Given the description of an element on the screen output the (x, y) to click on. 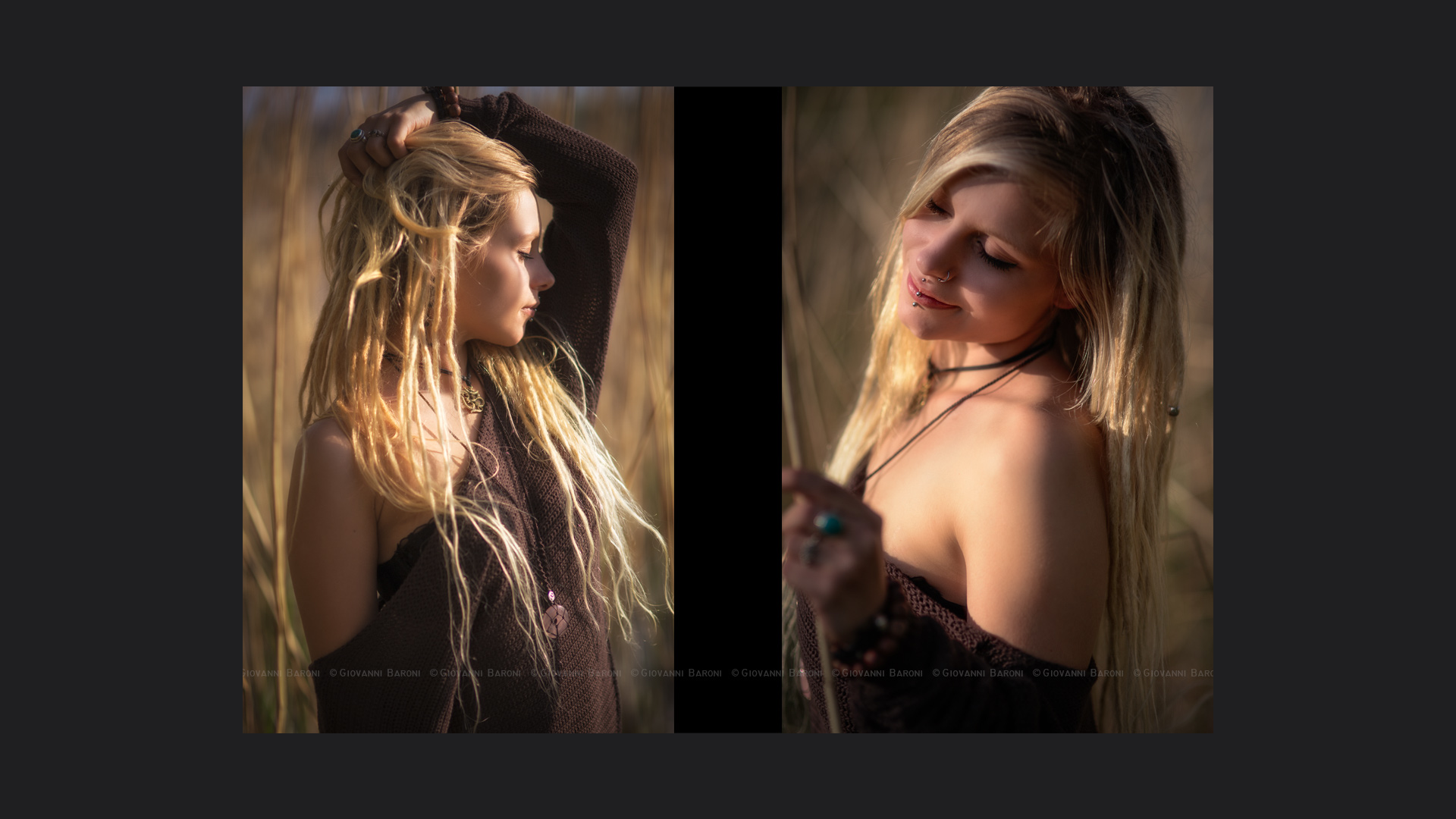
Slideshow Element type: hover (1250, 433)
Powered by SmugMug Element type: text (1333, 808)
Share Gallery Element type: hover (1213, 433)
Home Element type: text (1278, 23)
Download All Element type: hover (1287, 433)
Privat Element type: text (76, 105)
About me Element type: text (1409, 23)
Portfolio Element type: text (1338, 23)
BUY PHOTOS Element type: text (1371, 433)
Owner Log In Element type: text (1419, 808)
GIOVANNI BARONI Element type: text (95, 25)
